Given the description of an element on the screen output the (x, y) to click on. 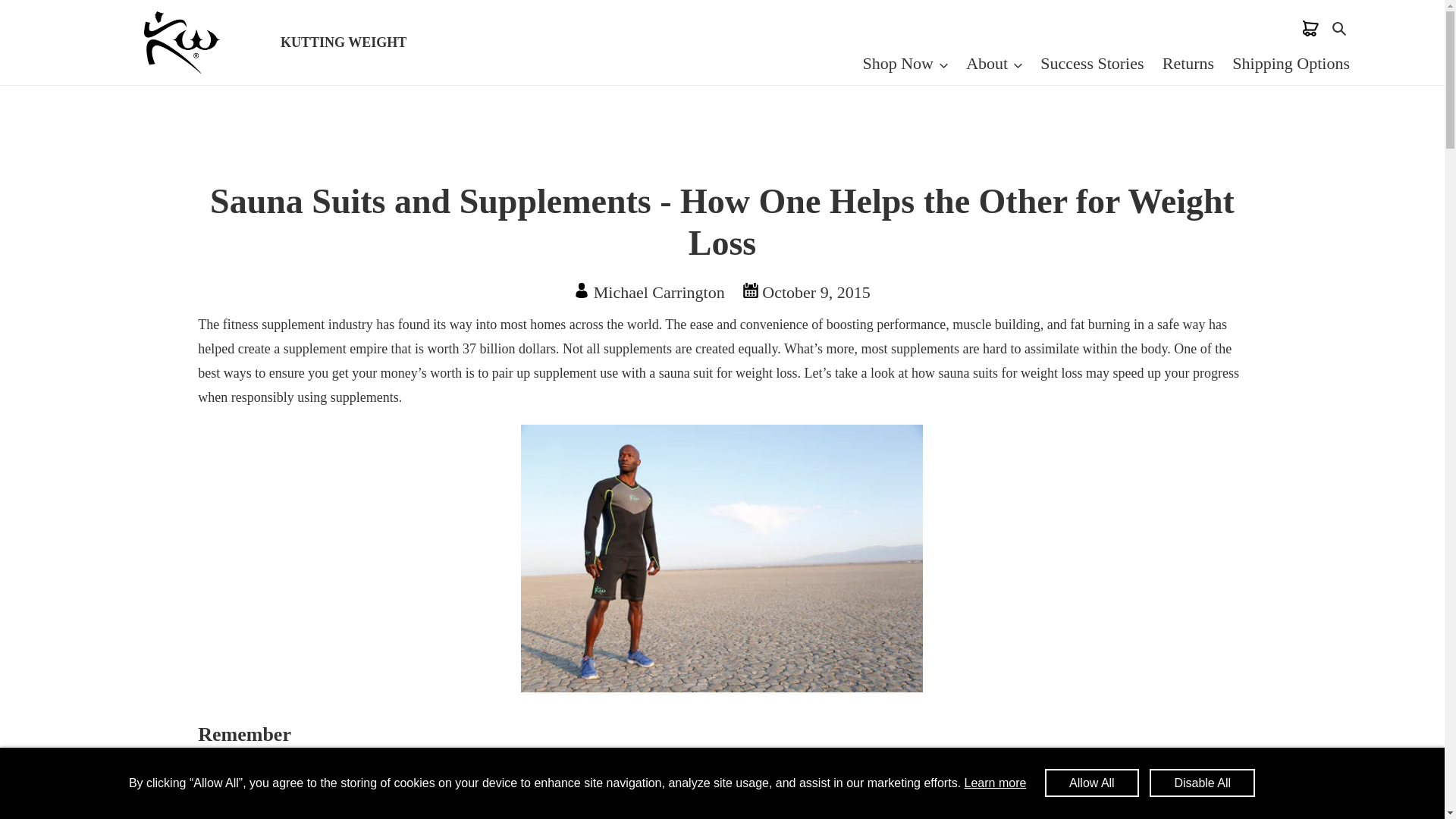
Search (1340, 27)
Returns (1187, 62)
Shop Now (905, 62)
Shipping Options (1291, 62)
Success Stories (1091, 62)
About (994, 62)
